Given the description of an element on the screen output the (x, y) to click on. 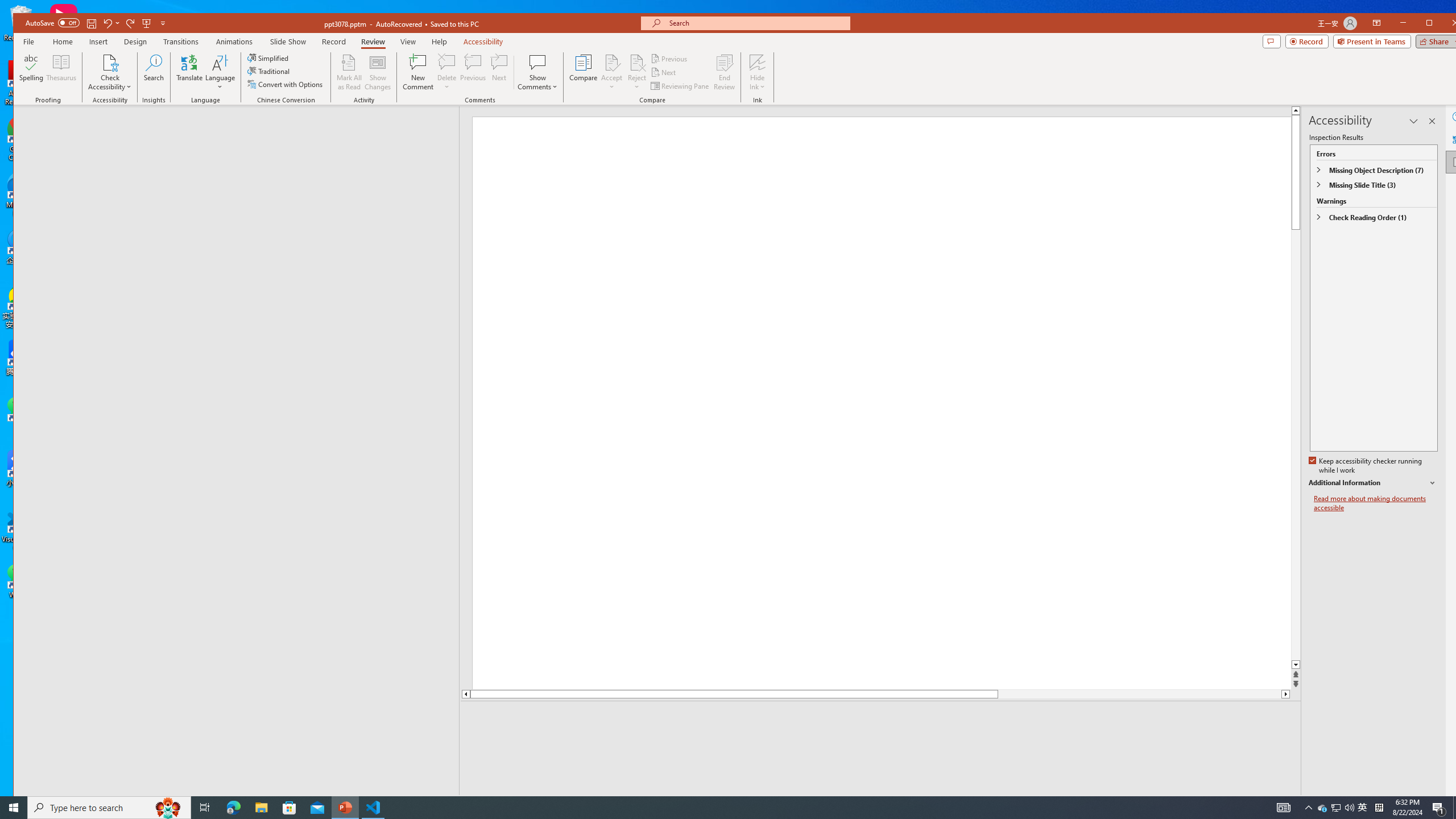
Translate (188, 72)
Slide Show Next On (1253, 802)
Language (219, 72)
Reviewing Pane (680, 85)
Menu On (1235, 802)
